Given the description of an element on the screen output the (x, y) to click on. 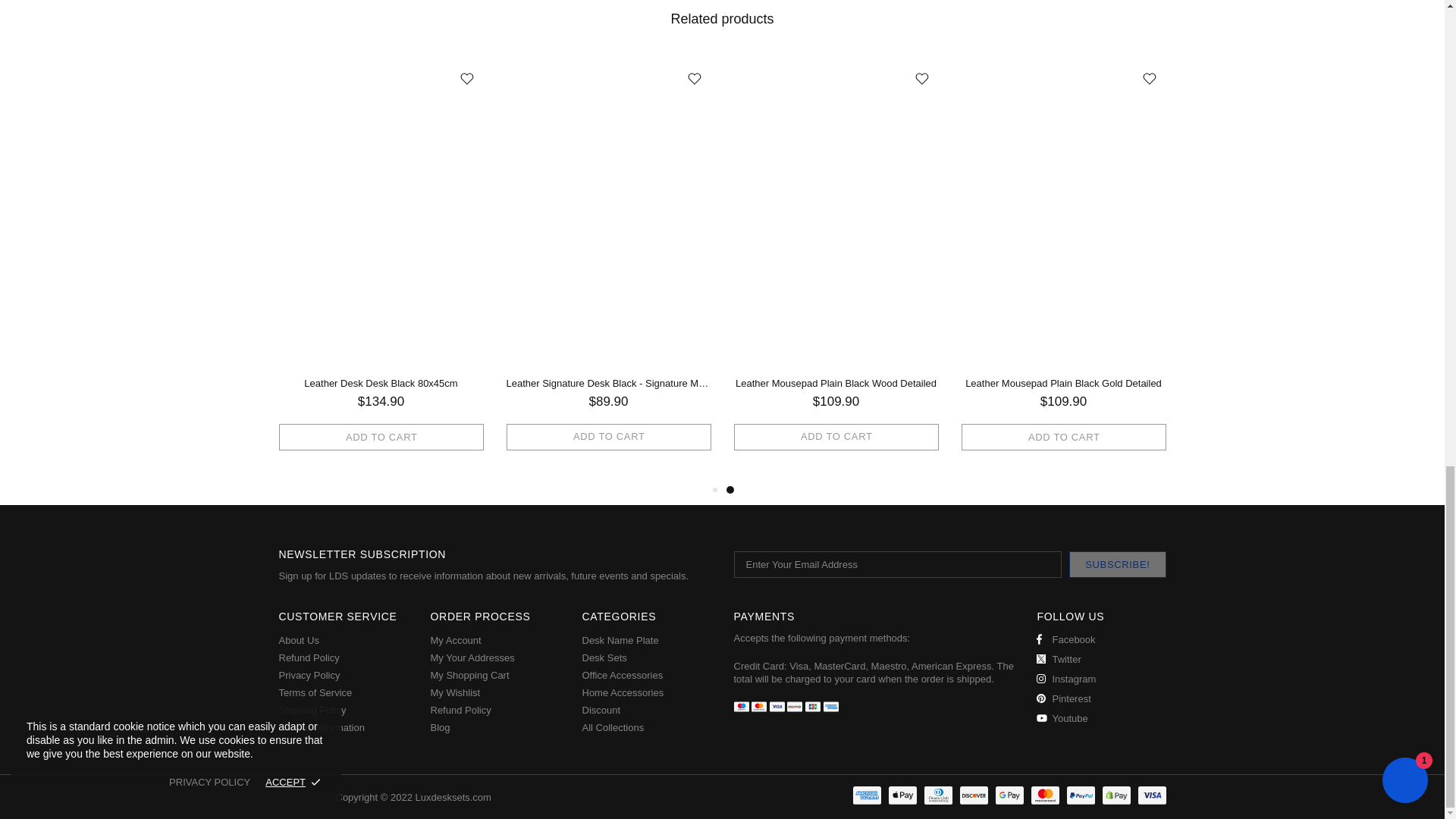
SUBSCRIBE! (1117, 564)
